Given the description of an element on the screen output the (x, y) to click on. 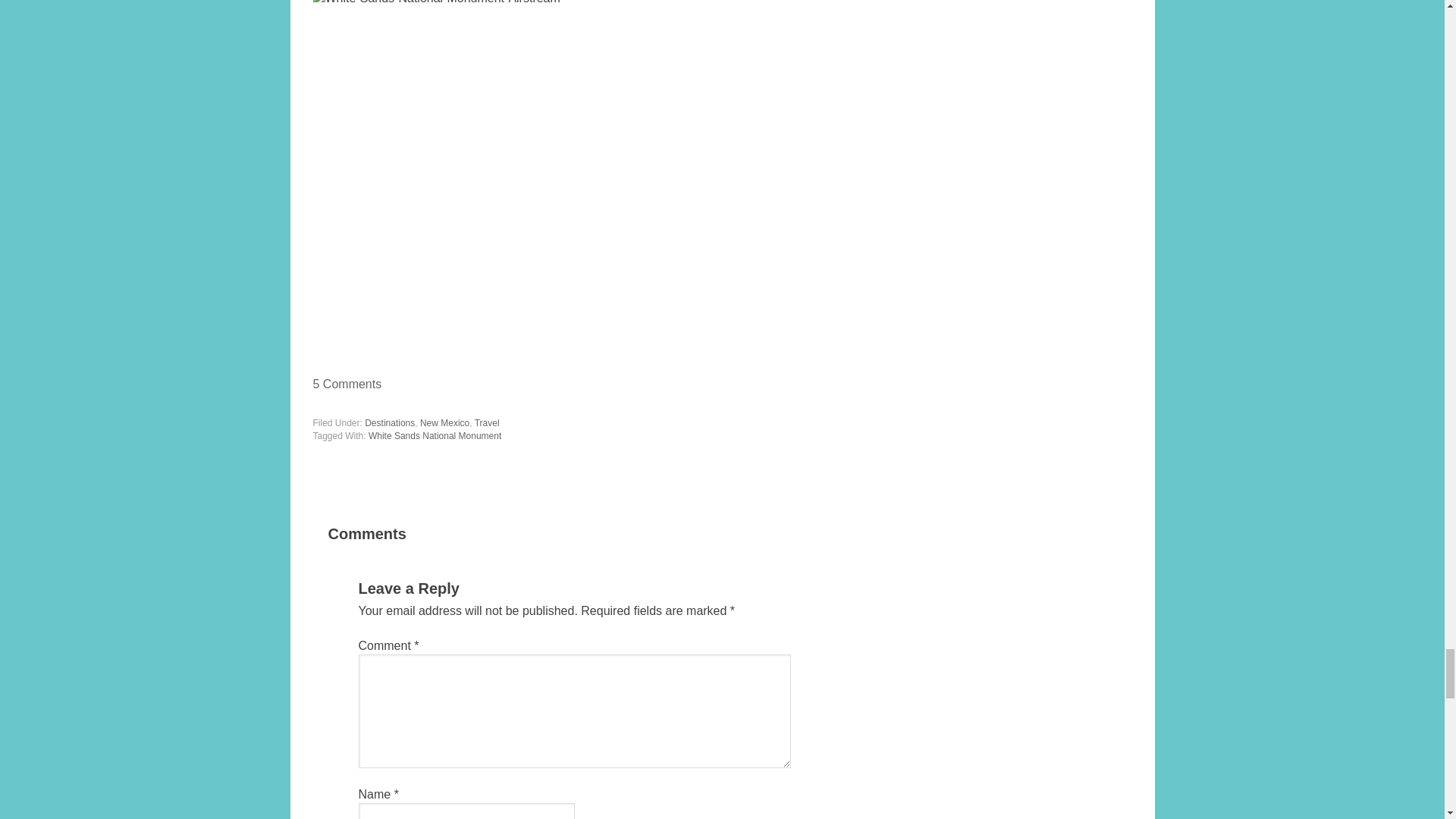
Destinations (389, 422)
5 Comments (347, 383)
New Mexico (444, 422)
Travel (486, 422)
